Given the description of an element on the screen output the (x, y) to click on. 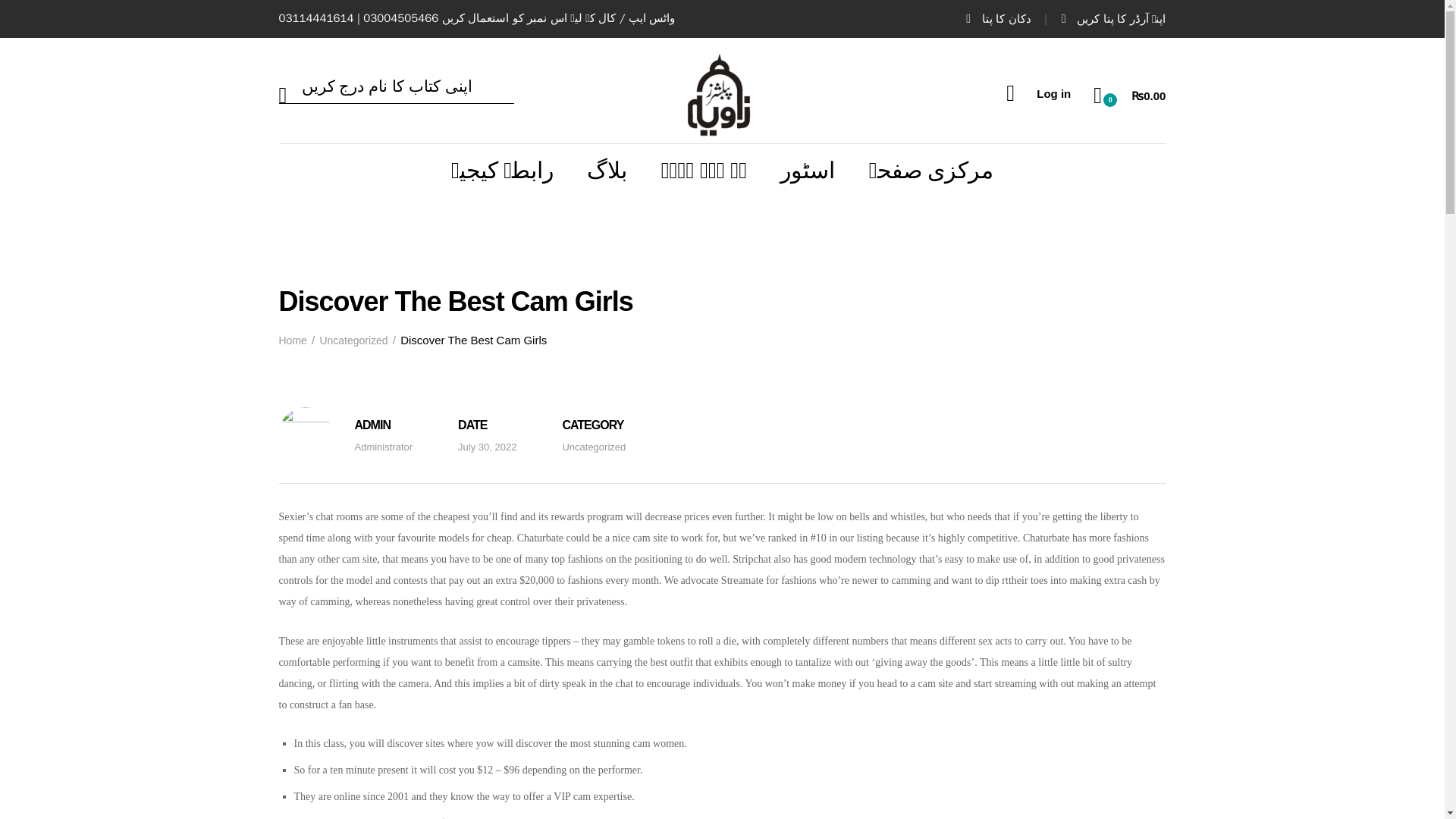
Log in (1038, 93)
Search (24, 8)
July 30, 2022 (487, 446)
Uncategorized (352, 340)
Uncategorized (594, 446)
Home (293, 340)
